Given the description of an element on the screen output the (x, y) to click on. 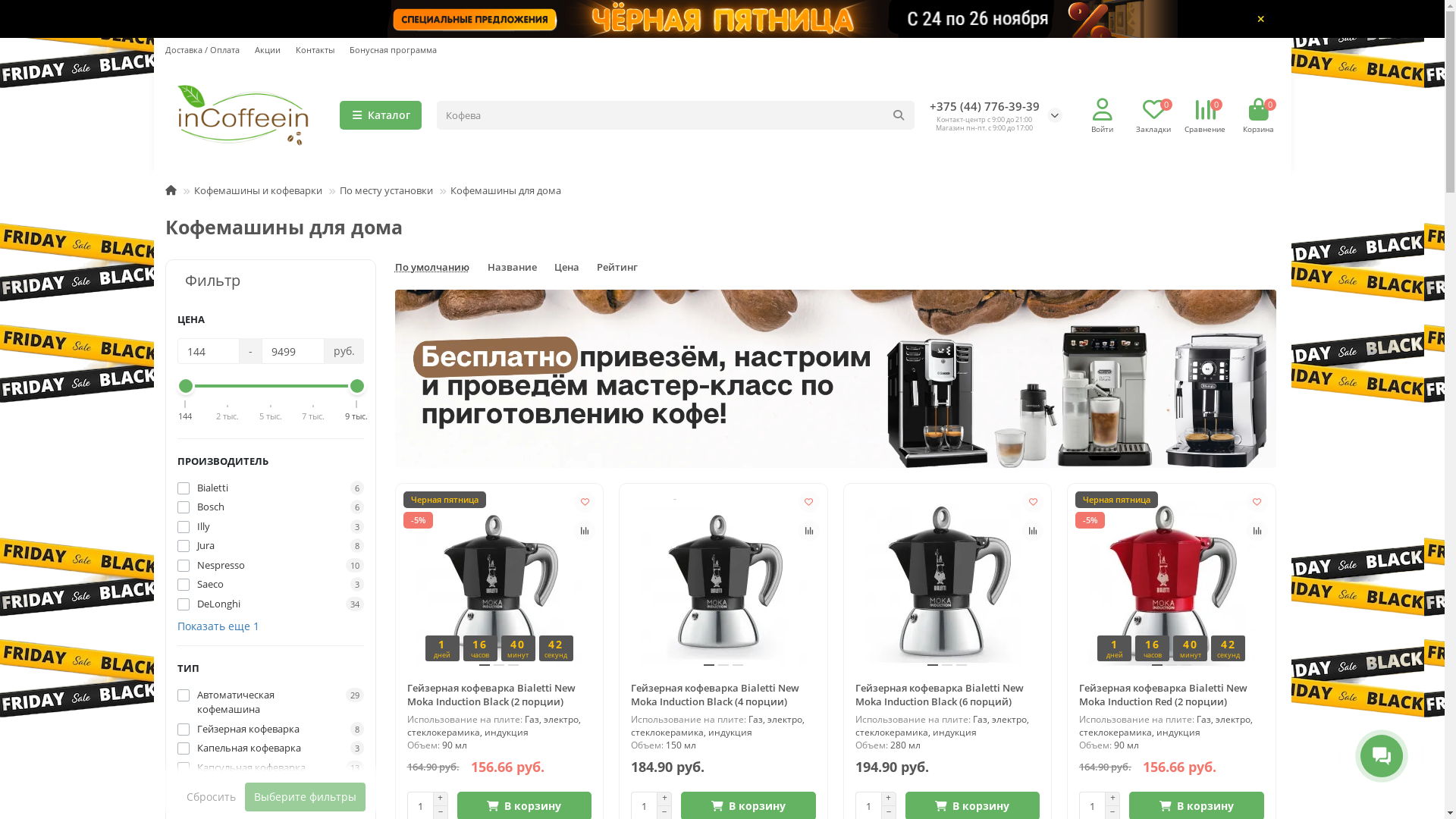
DeLonghi
34 Element type: text (270, 603)
Illy
3 Element type: text (270, 526)
+375 (44) 776-39-39 Element type: text (984, 106)
0 Element type: text (1257, 109)
Saeco
3 Element type: text (270, 584)
Jura
8 Element type: text (270, 545)
Nespresso
10 Element type: text (270, 565)
Bialetti
6 Element type: text (270, 487)
Bosch
6 Element type: text (270, 506)
